Given the description of an element on the screen output the (x, y) to click on. 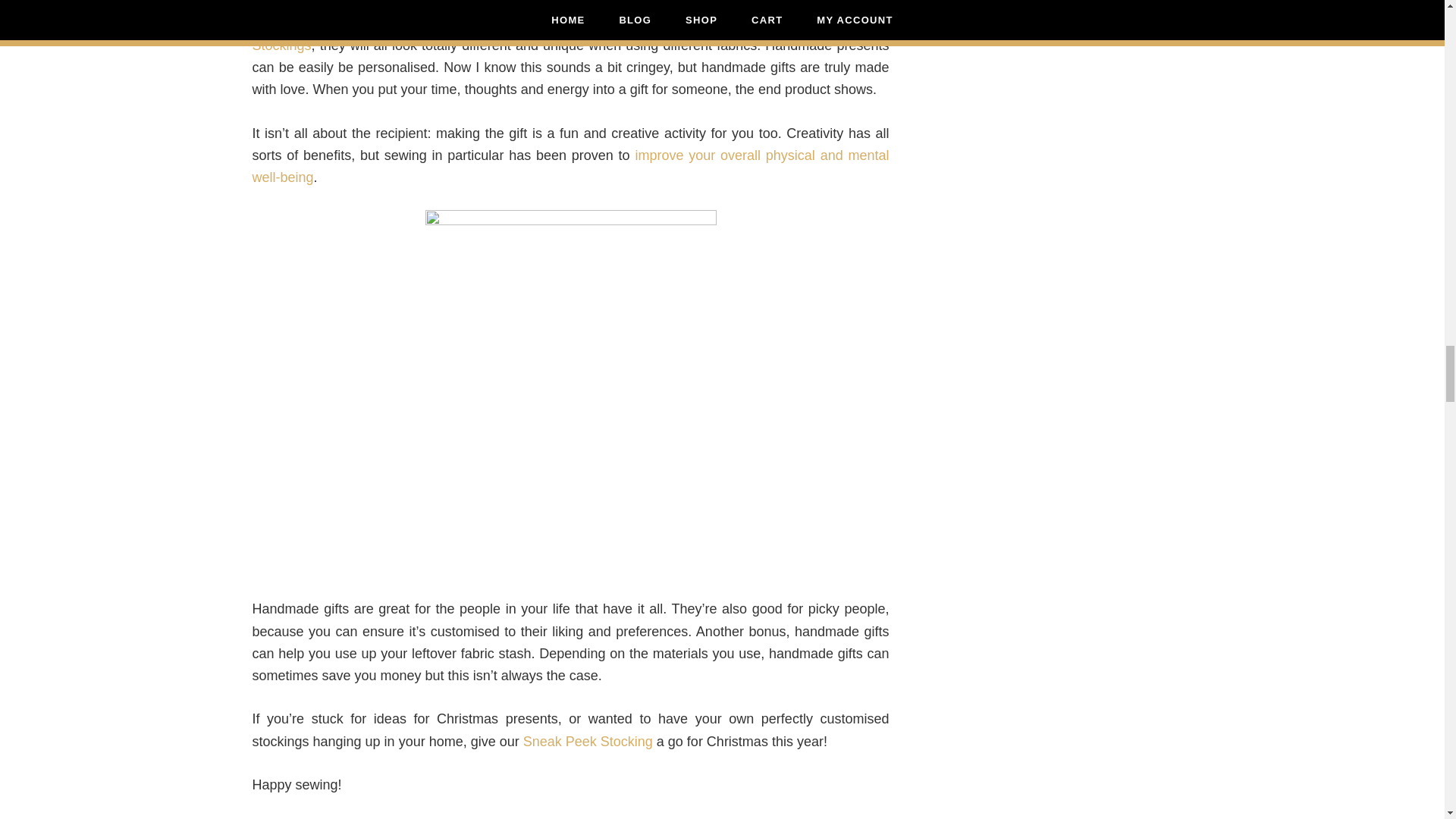
improve your overall physical and mental well-being (569, 166)
Sneak Peek Stocking (587, 741)
Sneak Peek Stockings (569, 34)
